Given the description of an element on the screen output the (x, y) to click on. 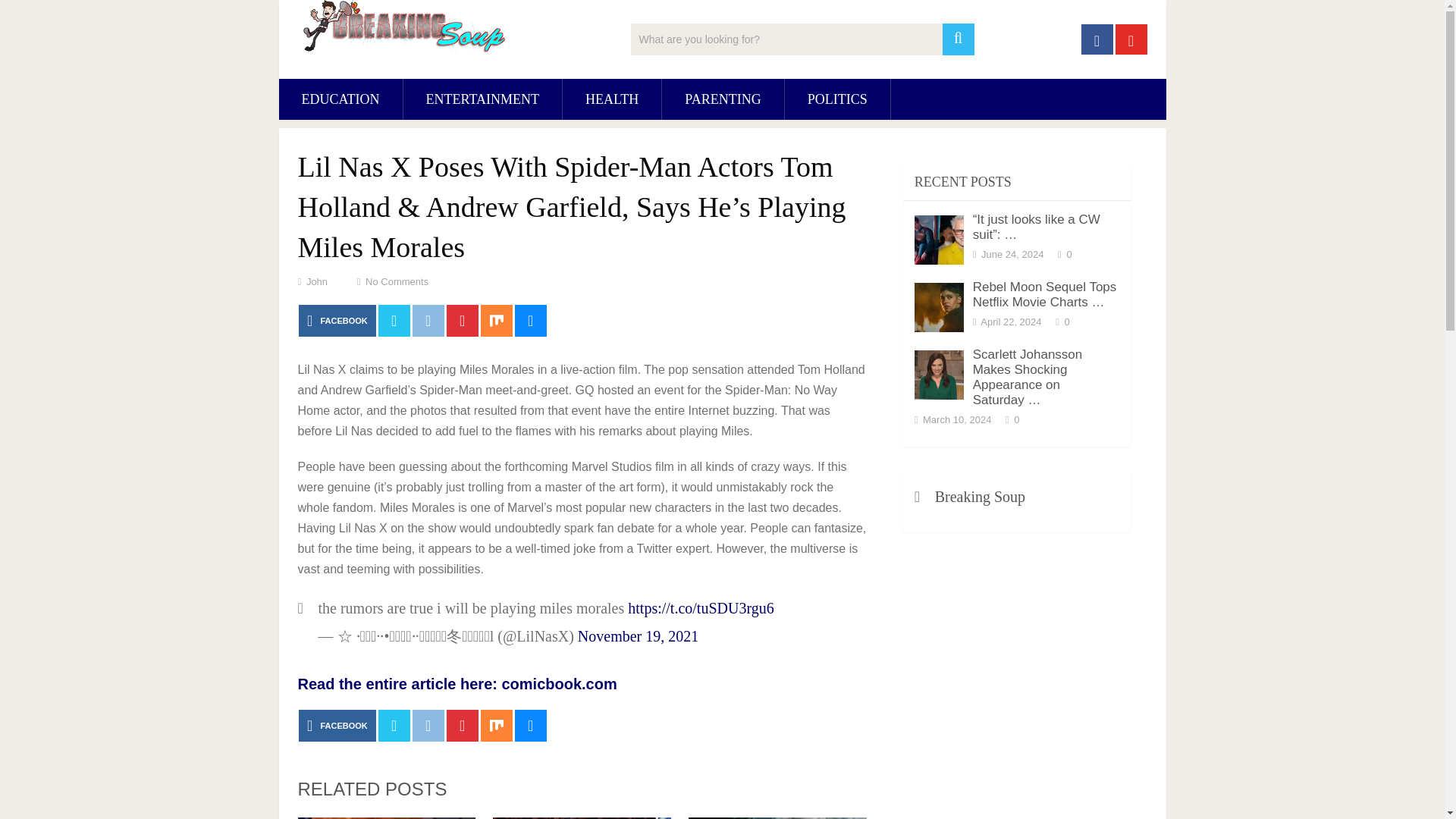
No Comments (396, 281)
FACEBOOK (336, 320)
POLITICS (836, 98)
Read the entire article here: comicbook.com (456, 683)
HEALTH (611, 98)
EDUCATION (341, 98)
Posts by John (316, 281)
John (316, 281)
FACEBOOK (336, 726)
PARENTING (722, 98)
November 19, 2021 (638, 636)
ENTERTAINMENT (482, 98)
